Given the description of an element on the screen output the (x, y) to click on. 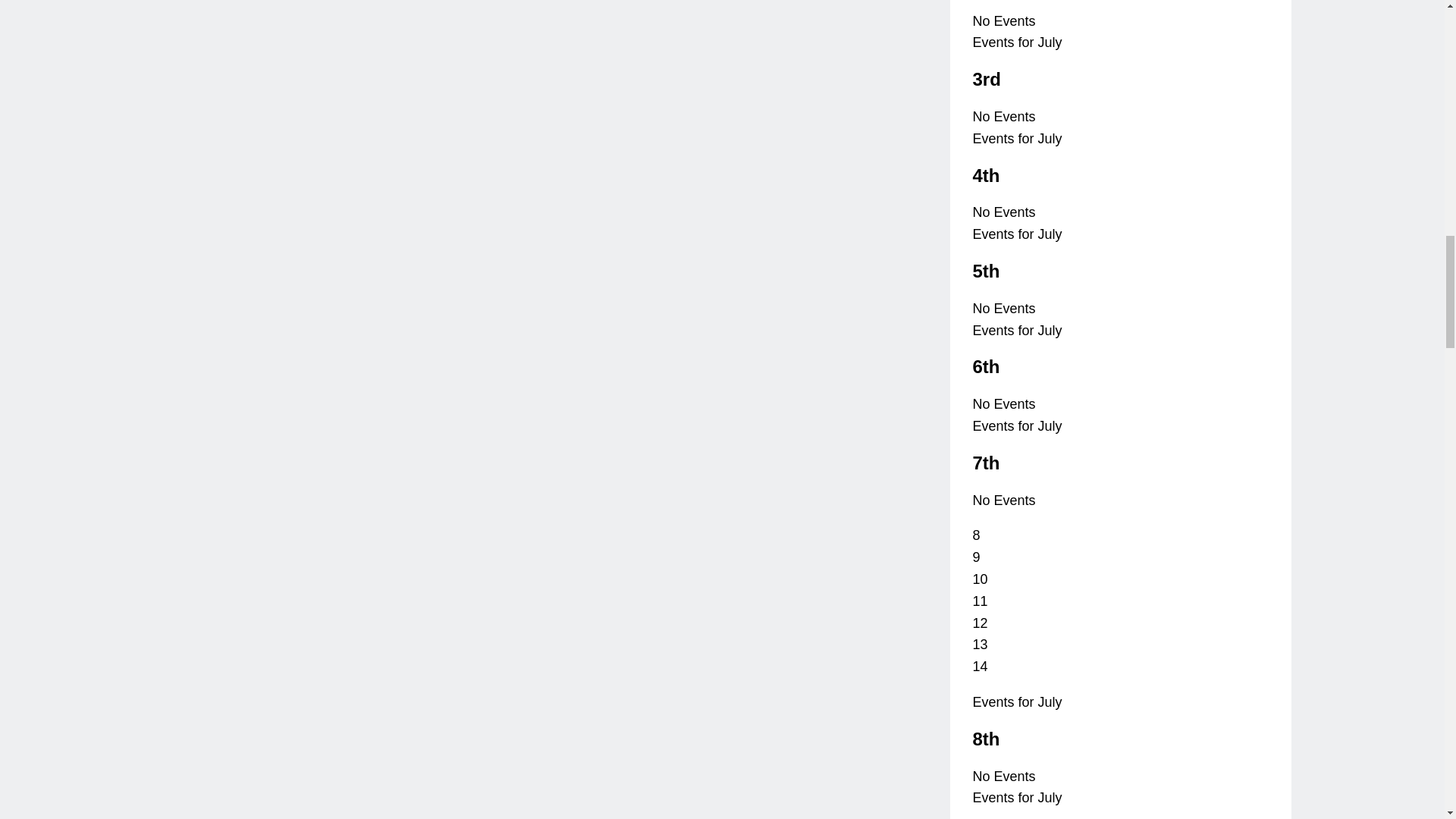
11 (979, 601)
